Given the description of an element on the screen output the (x, y) to click on. 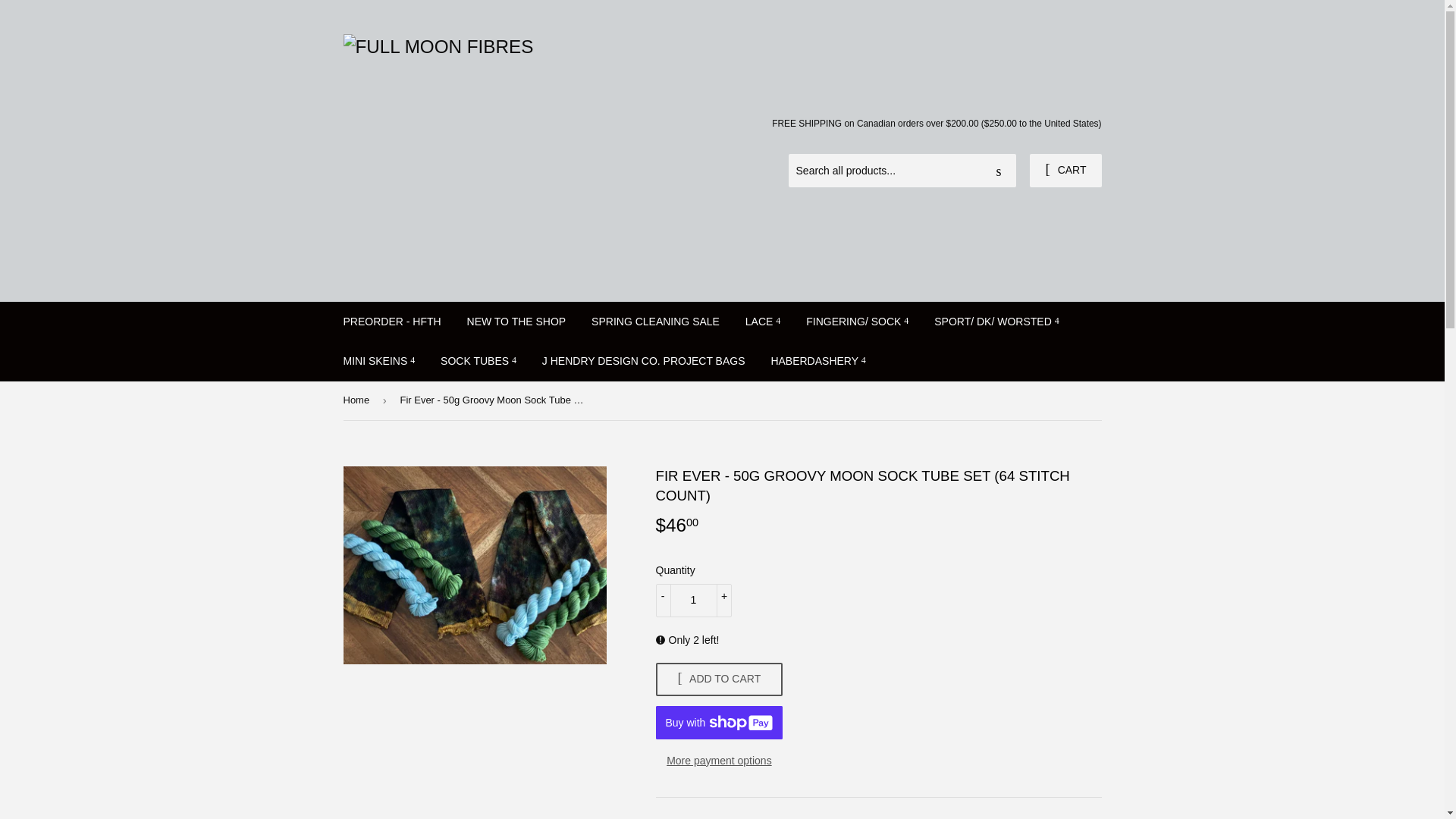
1 (692, 600)
CART (1064, 170)
Search (998, 171)
